Given the description of an element on the screen output the (x, y) to click on. 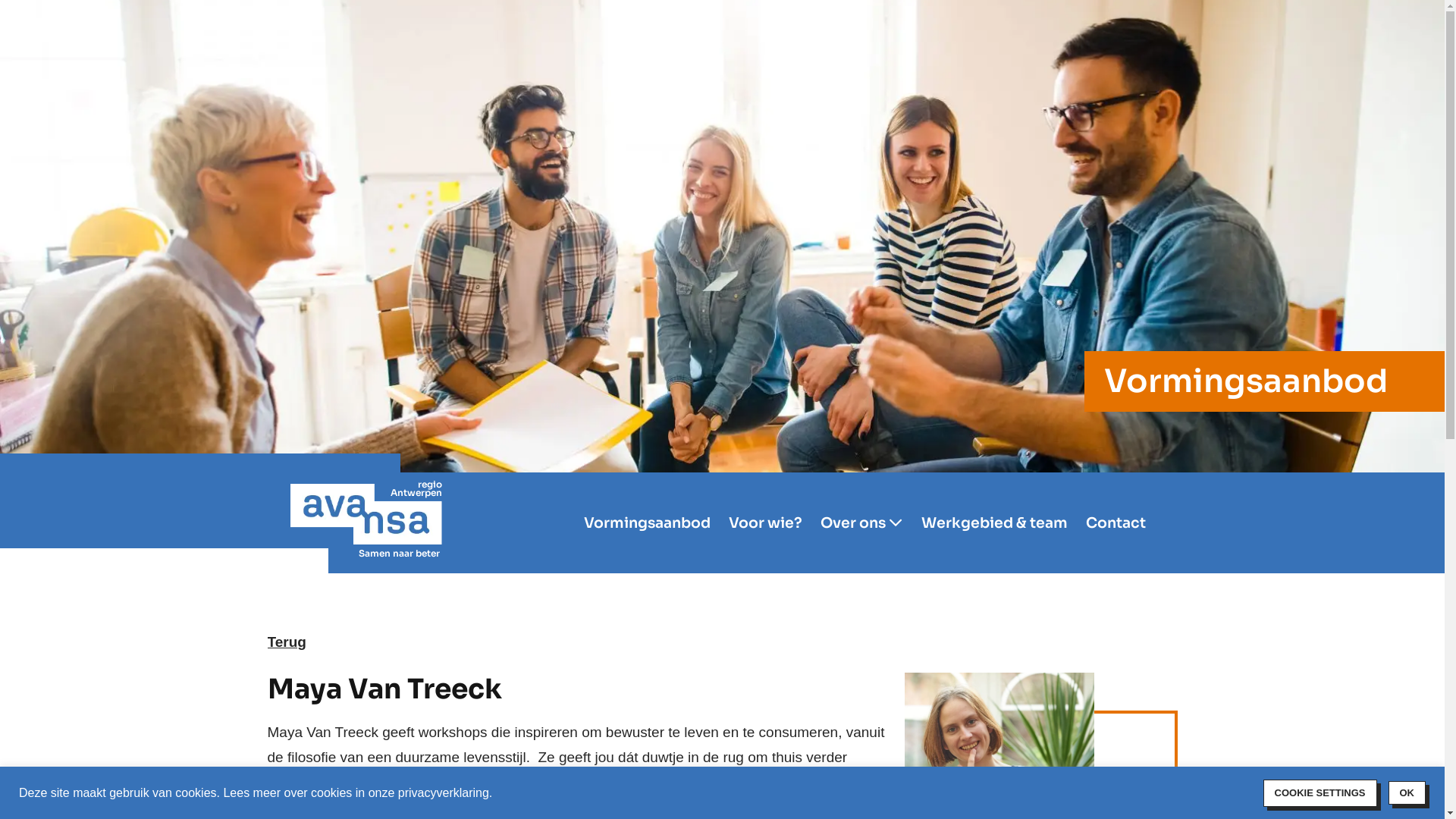
Over ons Element type: text (861, 522)
Voor wie? Element type: text (764, 522)
Contact Element type: text (1115, 522)
Werkgebied & team Element type: text (993, 522)
COOKIE SETTINGS Element type: text (1320, 792)
OK Element type: text (1406, 792)
Terug Element type: text (285, 641)
Avansa Element type: hover (365, 513)
Vormingsaanbod Element type: text (646, 522)
